Given the description of an element on the screen output the (x, y) to click on. 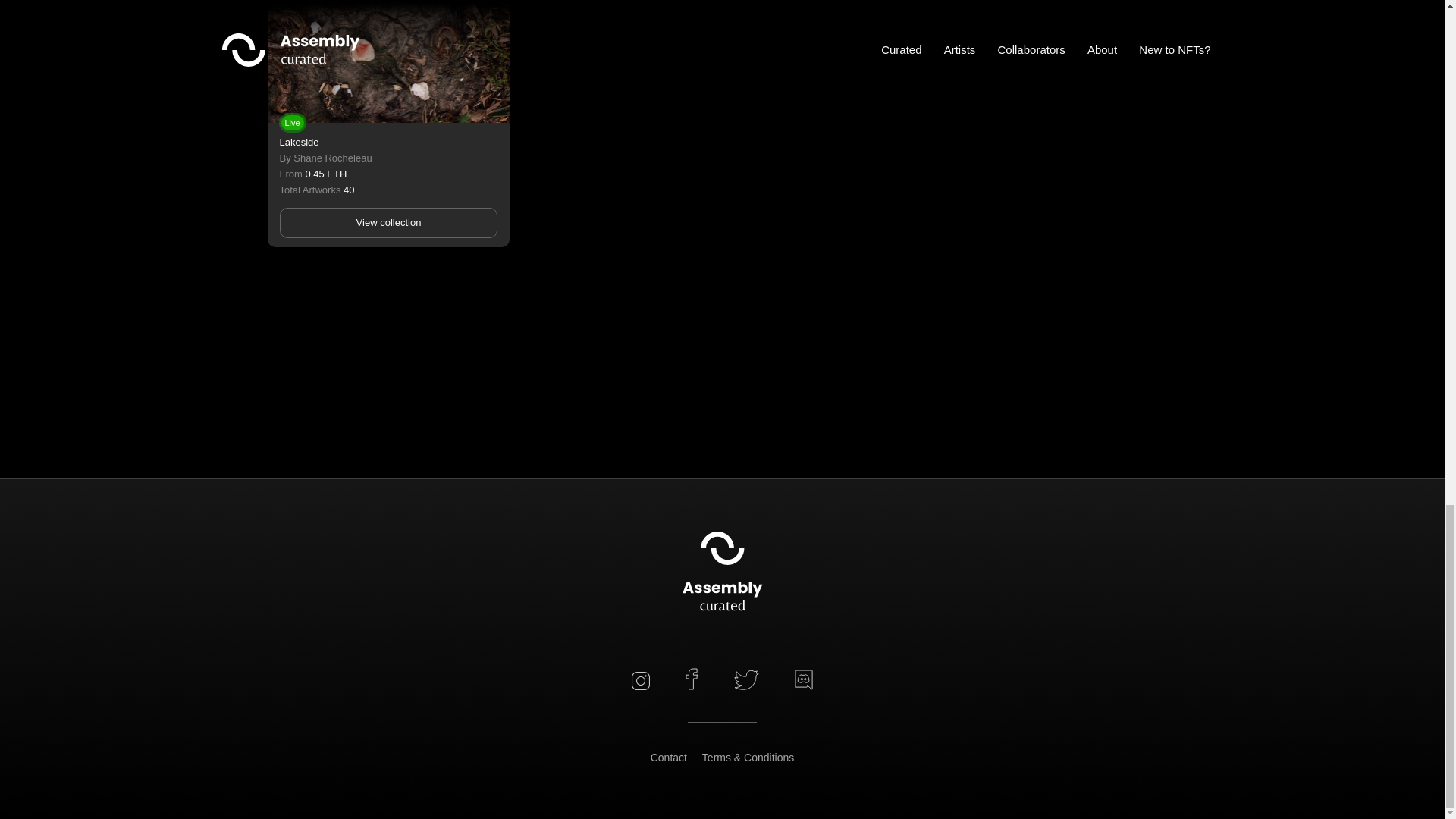
Lakeside (298, 142)
Contact (668, 757)
D1F61B0A-441E-4973-A010-2BD179B0EF06 (803, 679)
C54D8AC6-EFF1-4272-BF9F-A4CB07E1E166 (640, 680)
View collection (388, 223)
922880E9-1815-41B9-8A46-5740ED5028DC (745, 679)
922880E9-1815-41B9-8A46-5740ED5028DC (745, 682)
